Given the description of an element on the screen output the (x, y) to click on. 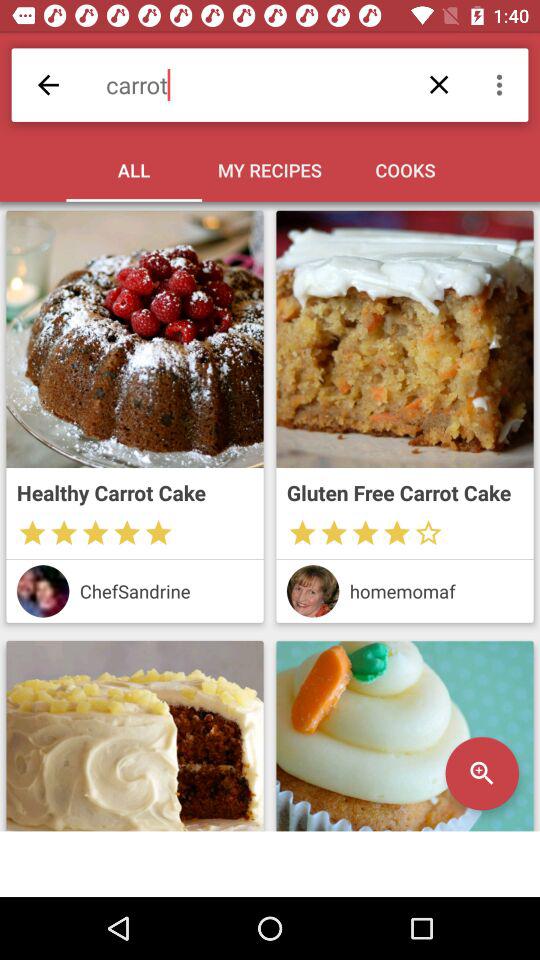
see creator page (312, 591)
